Given the description of an element on the screen output the (x, y) to click on. 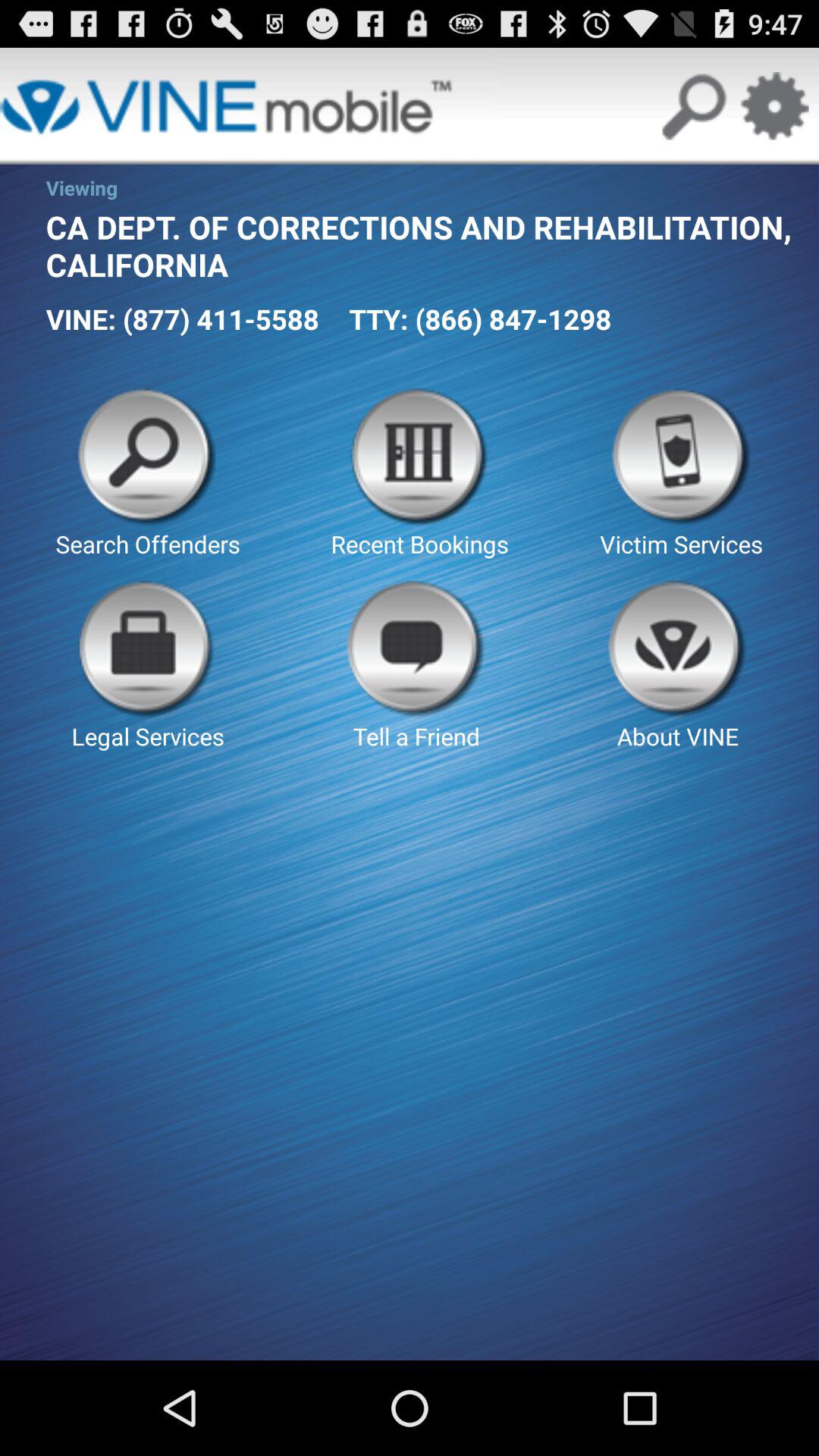
scroll until tty 866 847 item (480, 318)
